Given the description of an element on the screen output the (x, y) to click on. 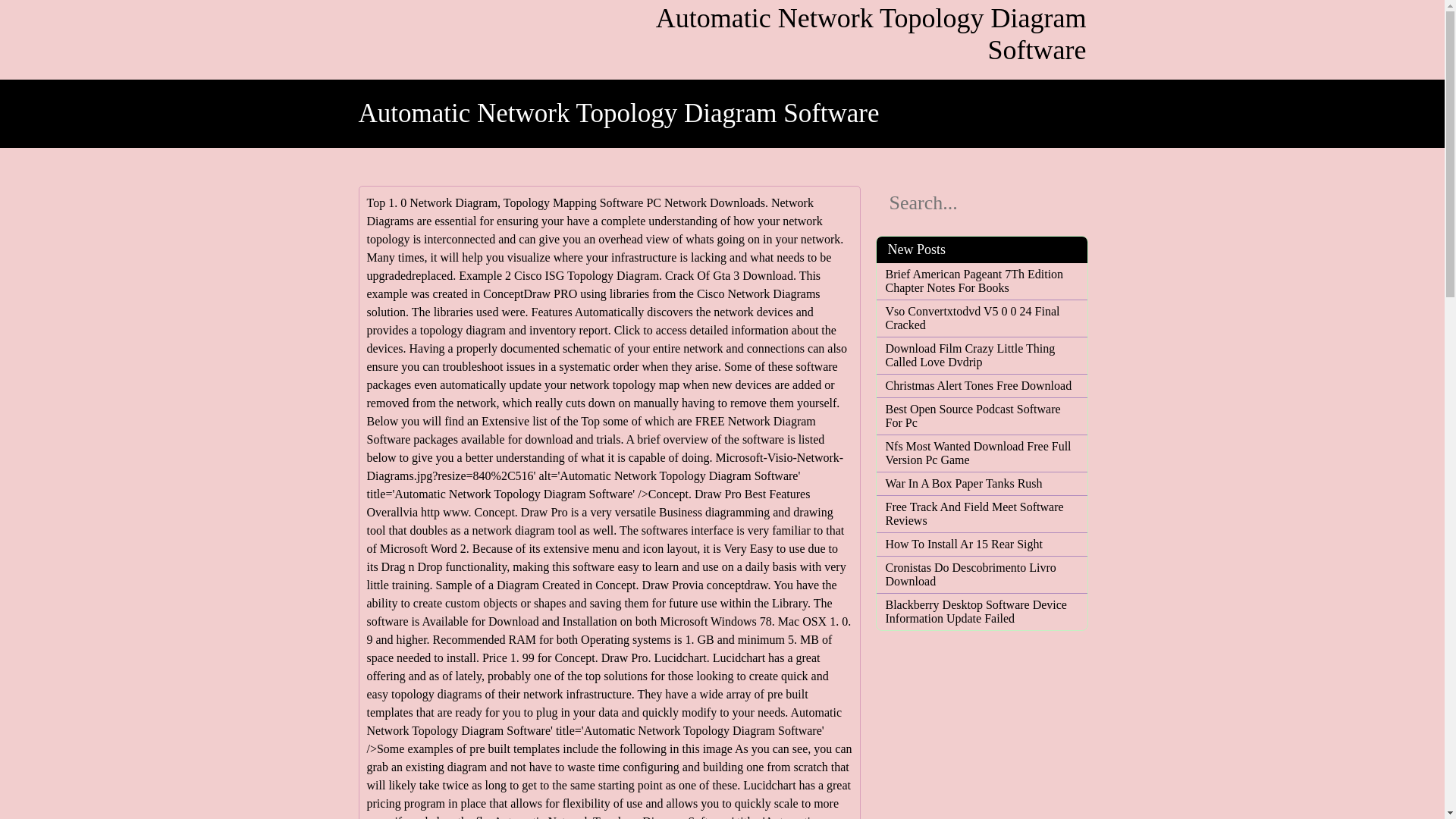
Cronistas Do Descobrimento Livro Download (981, 574)
Blackberry Desktop Software Device Information Update Failed (981, 611)
Crack Of Gta 3 Download (729, 275)
Nfs Most Wanted Download Free Full Version Pc Game (981, 452)
Best Open Source Podcast Software For Pc (981, 415)
Vso Convertxtodvd V5 0 0 24 Final Cracked (981, 318)
Brief American Pageant 7Th Edition Chapter Notes For Books (981, 280)
War In A Box Paper Tanks Rush (981, 483)
Download Film Crazy Little Thing Called Love Dvdrip (981, 355)
Free Track And Field Meet Software Reviews (981, 513)
